Given the description of an element on the screen output the (x, y) to click on. 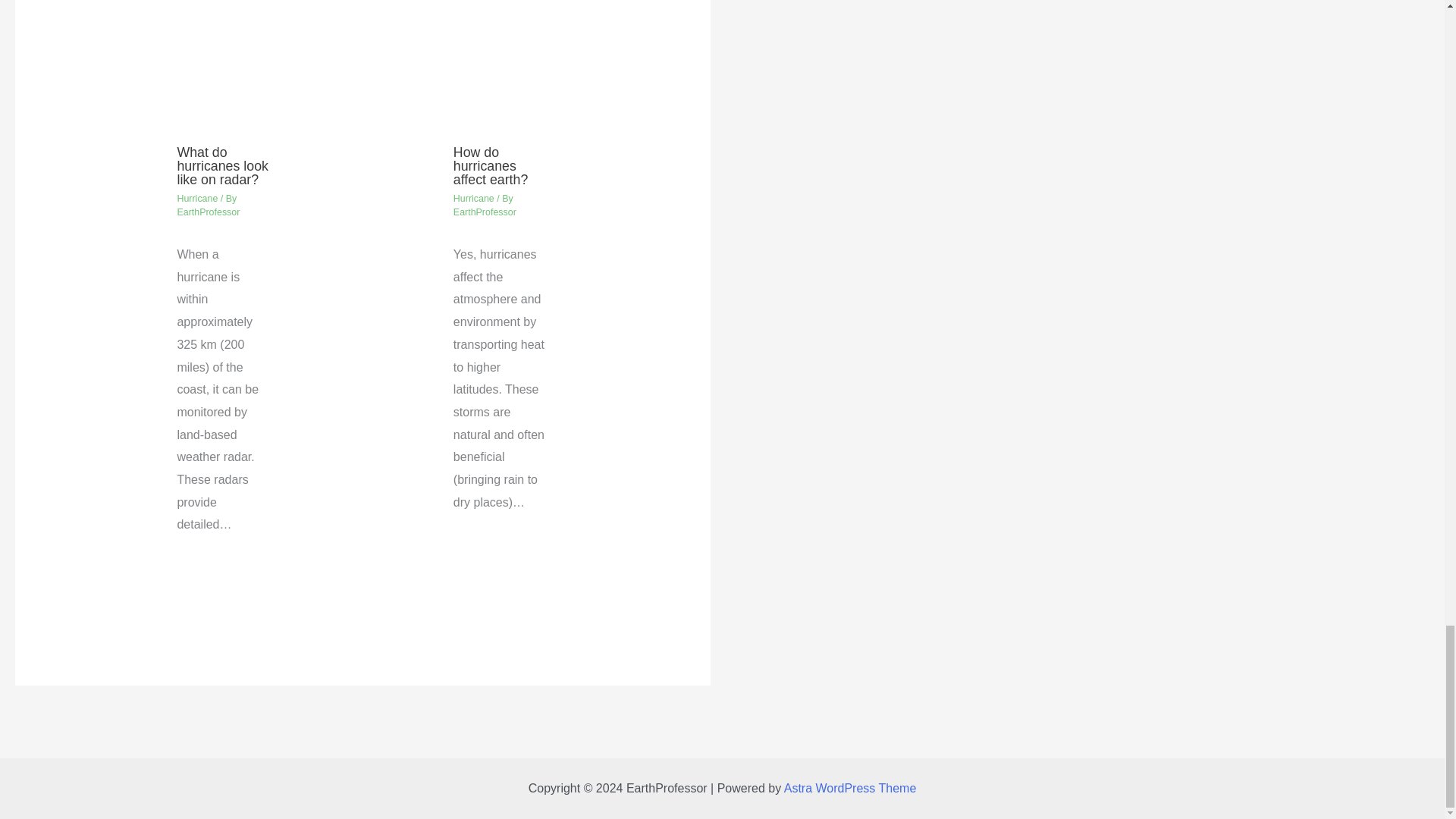
Hurricane (473, 198)
EarthProfessor (484, 212)
What do hurricanes look like on radar? (221, 165)
View all posts by EarthProfessor (484, 212)
EarthProfessor (208, 212)
View all posts by EarthProfessor (208, 212)
Hurricane (196, 198)
How do hurricanes affect earth? (489, 165)
